Given the description of an element on the screen output the (x, y) to click on. 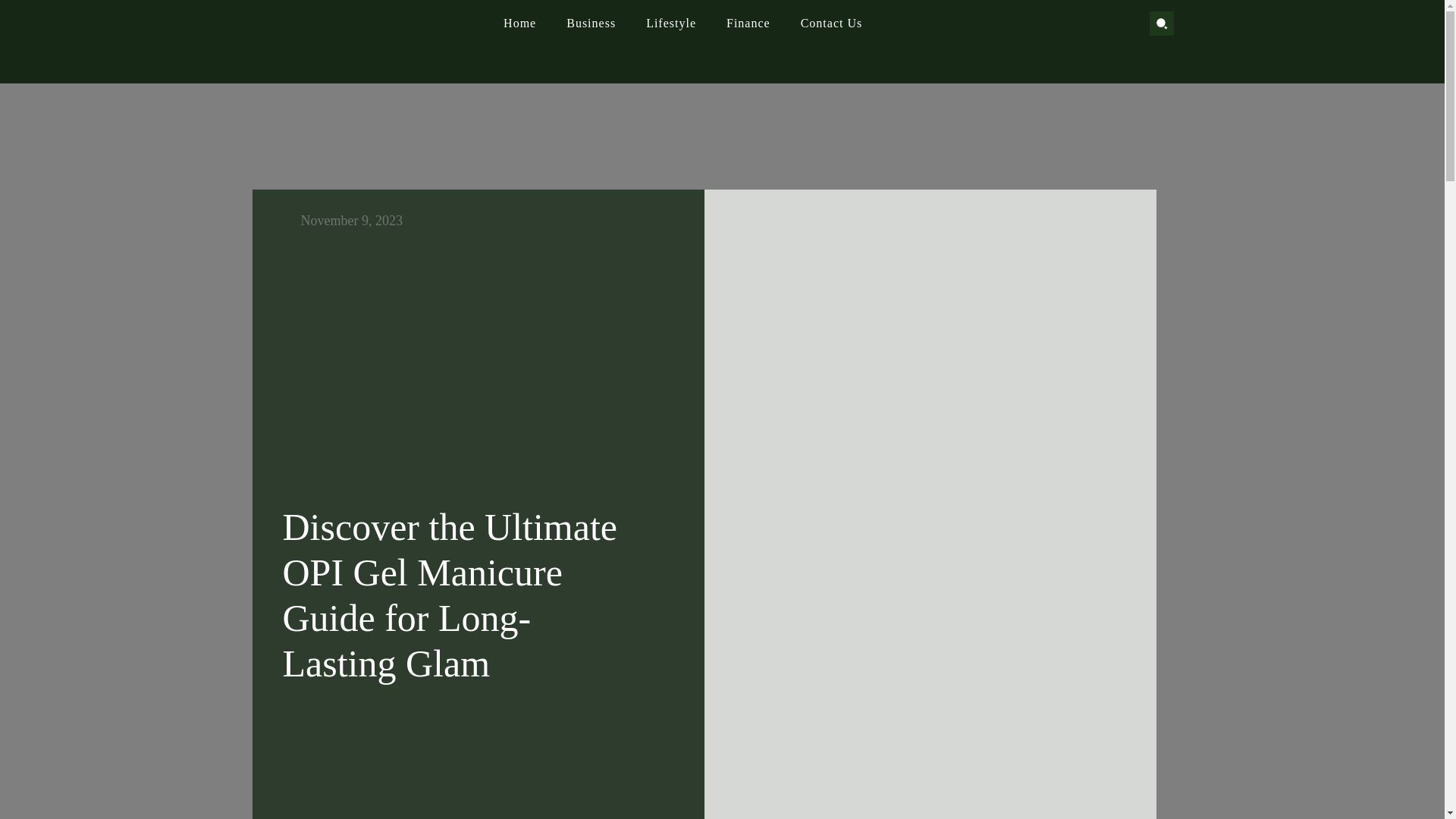
Lifestyle (670, 23)
Contact Us (832, 23)
Finance (747, 23)
Business (590, 23)
Home (519, 23)
